Given the description of an element on the screen output the (x, y) to click on. 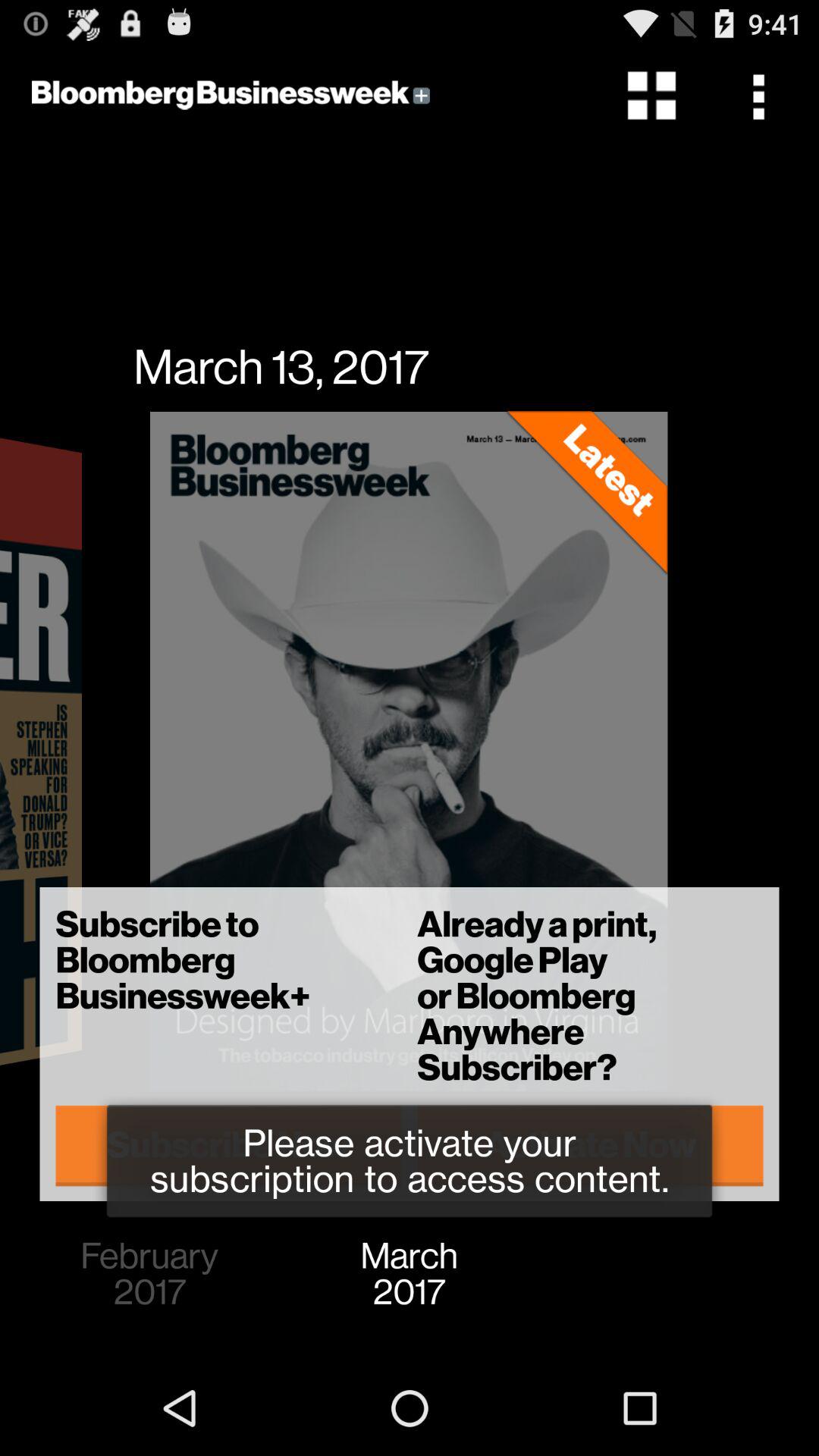
click icon below the subscribe now icon (149, 1273)
